Given the description of an element on the screen output the (x, y) to click on. 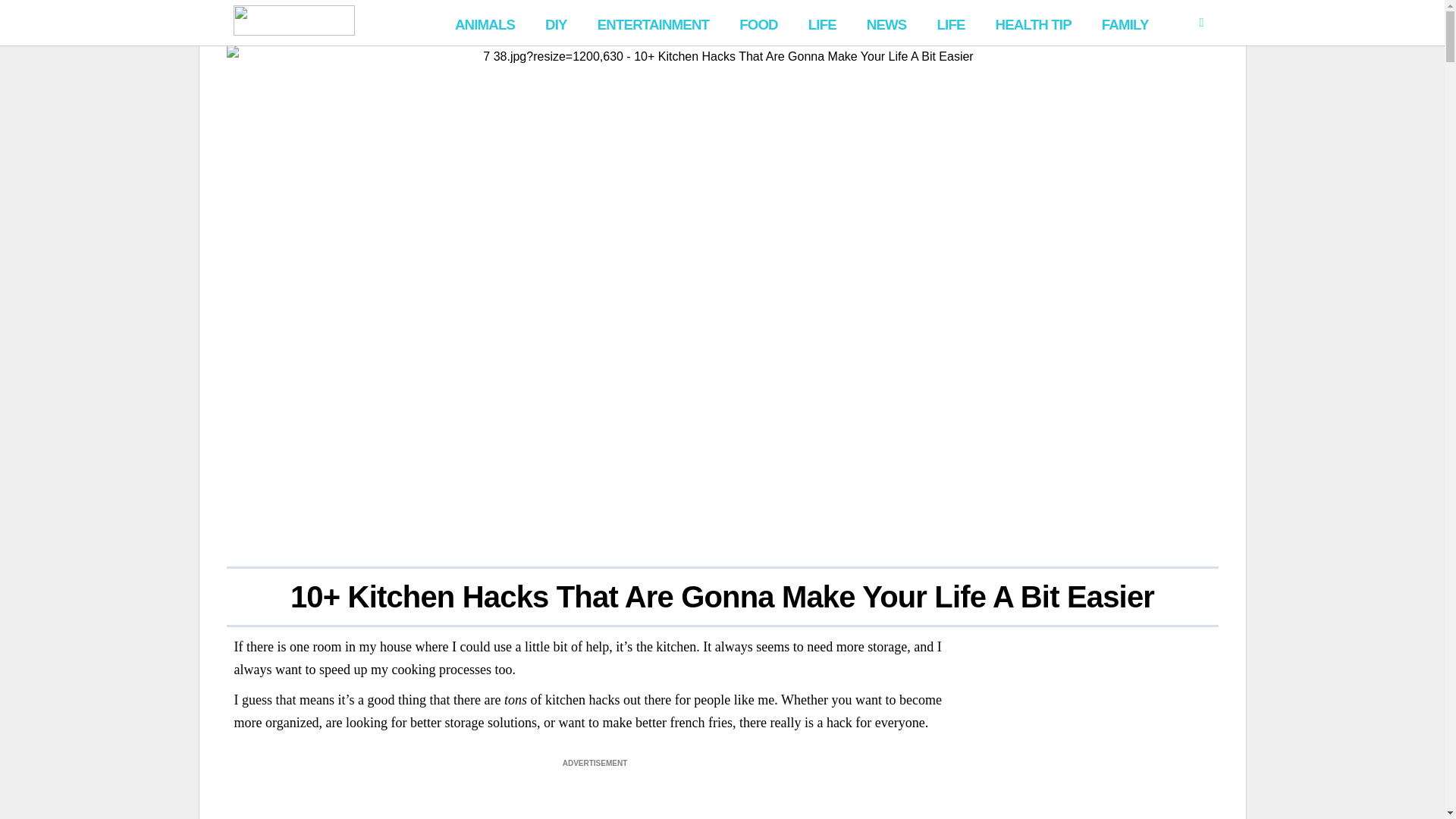
ANIMALS (484, 22)
ENTERTAINMENT (652, 22)
FOOD (759, 22)
LIFE (950, 22)
NEWS (886, 22)
LIFE (822, 22)
FAMILY (1125, 22)
HEALTH TIP (1033, 22)
